Given the description of an element on the screen output the (x, y) to click on. 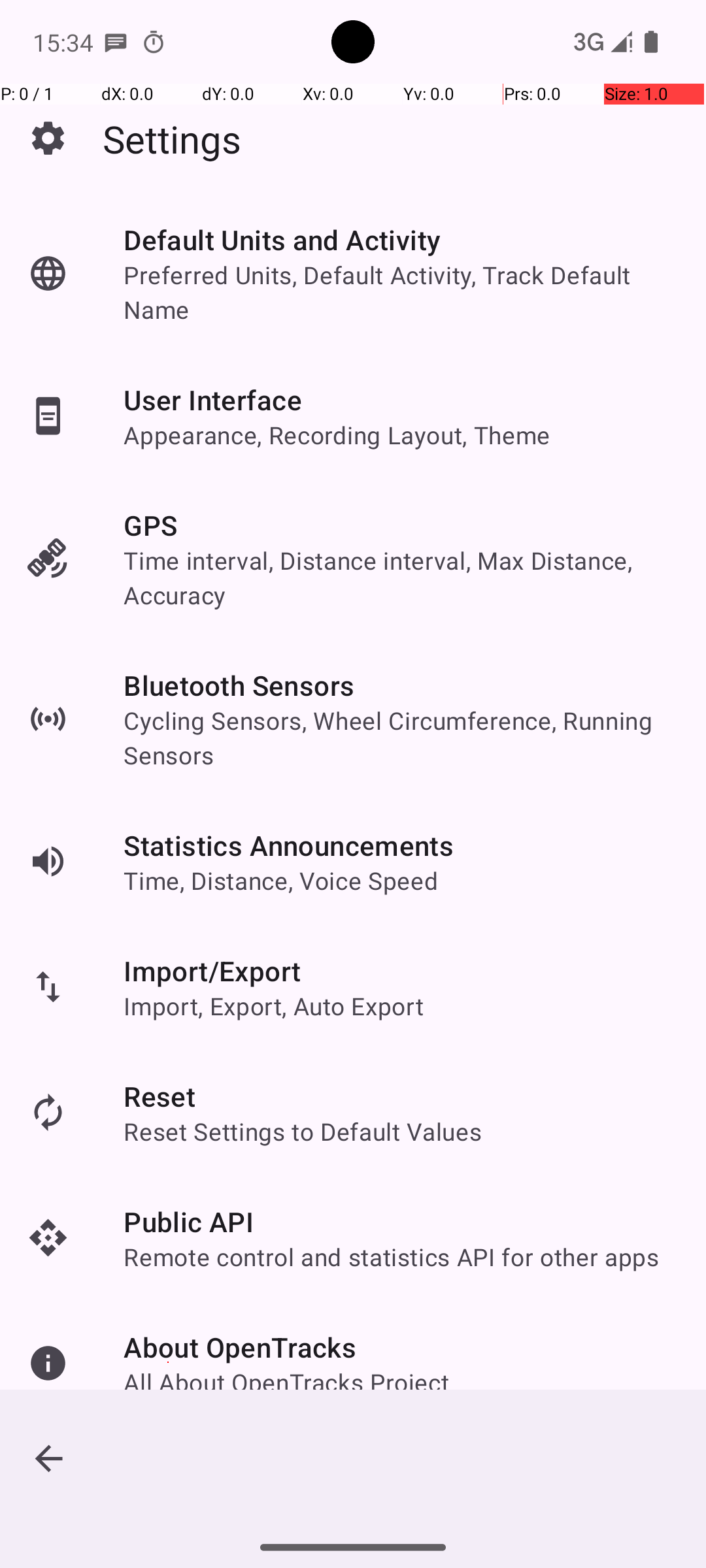
Default Units and Activity Element type: android.widget.TextView (282, 239)
Preferred Units, Default Activity, Track Default Name Element type: android.widget.TextView (400, 292)
User Interface Element type: android.widget.TextView (212, 399)
Appearance, Recording Layout, Theme Element type: android.widget.TextView (336, 434)
GPS Element type: android.widget.TextView (150, 524)
Time interval, Distance interval, Max Distance, Accuracy Element type: android.widget.TextView (400, 577)
Bluetooth Sensors Element type: android.widget.TextView (238, 684)
Cycling Sensors, Wheel Circumference, Running Sensors Element type: android.widget.TextView (400, 737)
Statistics Announcements Element type: android.widget.TextView (288, 844)
Time, Distance, Voice Speed Element type: android.widget.TextView (280, 880)
Import/Export Element type: android.widget.TextView (212, 970)
Import, Export, Auto Export Element type: android.widget.TextView (273, 1005)
Reset Settings to Default Values Element type: android.widget.TextView (302, 1130)
Public API Element type: android.widget.TextView (188, 1221)
Remote control and statistics API for other apps Element type: android.widget.TextView (391, 1256)
About OpenTracks Element type: android.widget.TextView (239, 1346)
All About OpenTracks Project Element type: android.widget.TextView (286, 1381)
